Given the description of an element on the screen output the (x, y) to click on. 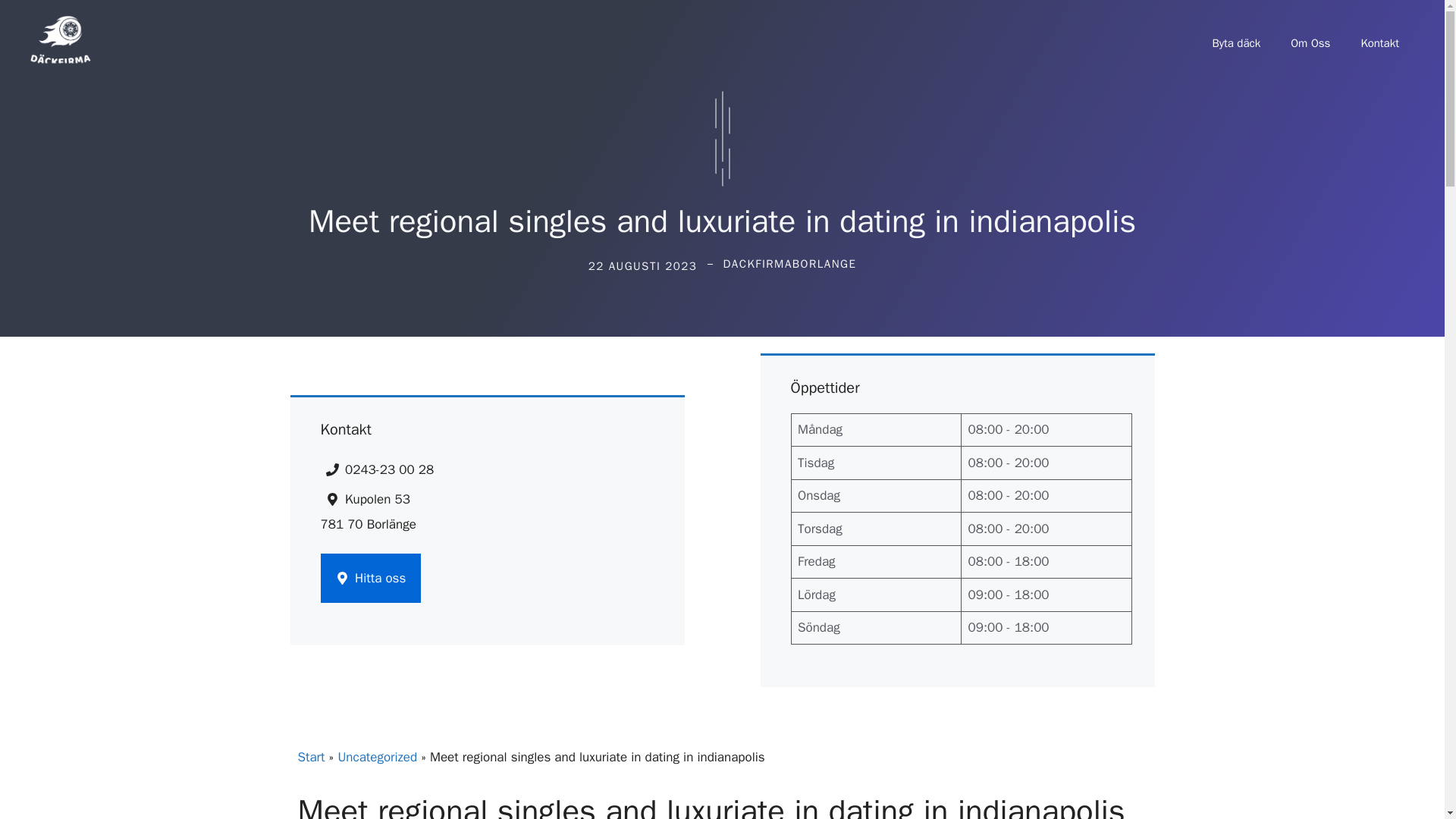
Hitta oss (370, 578)
Start (310, 756)
Om Oss (1310, 43)
Uncategorized (376, 756)
Kontakt (1379, 43)
